Given the description of an element on the screen output the (x, y) to click on. 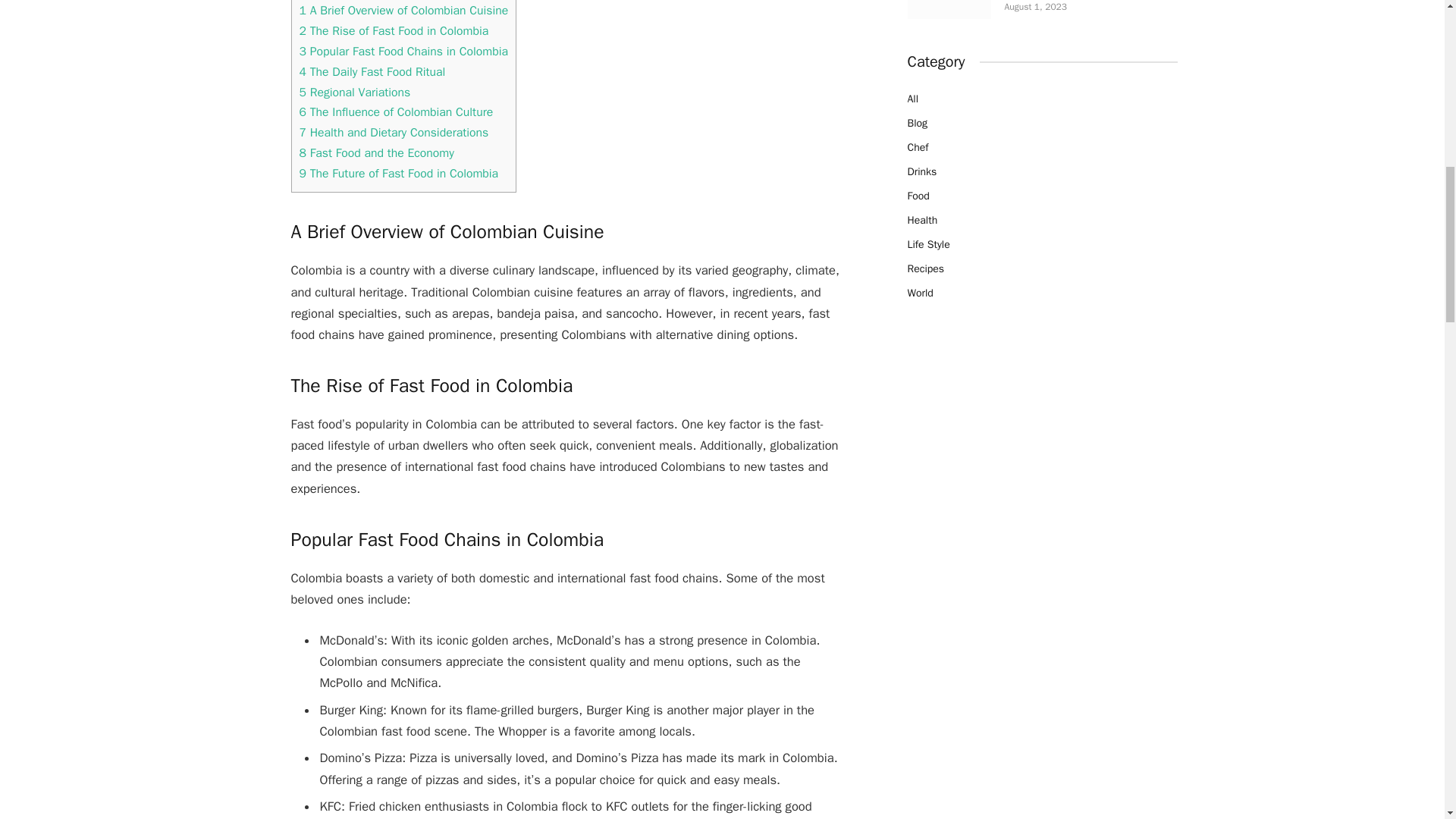
1 A Brief Overview of Colombian Cuisine (403, 10)
2 The Rise of Fast Food in Colombia (392, 30)
